Given the description of an element on the screen output the (x, y) to click on. 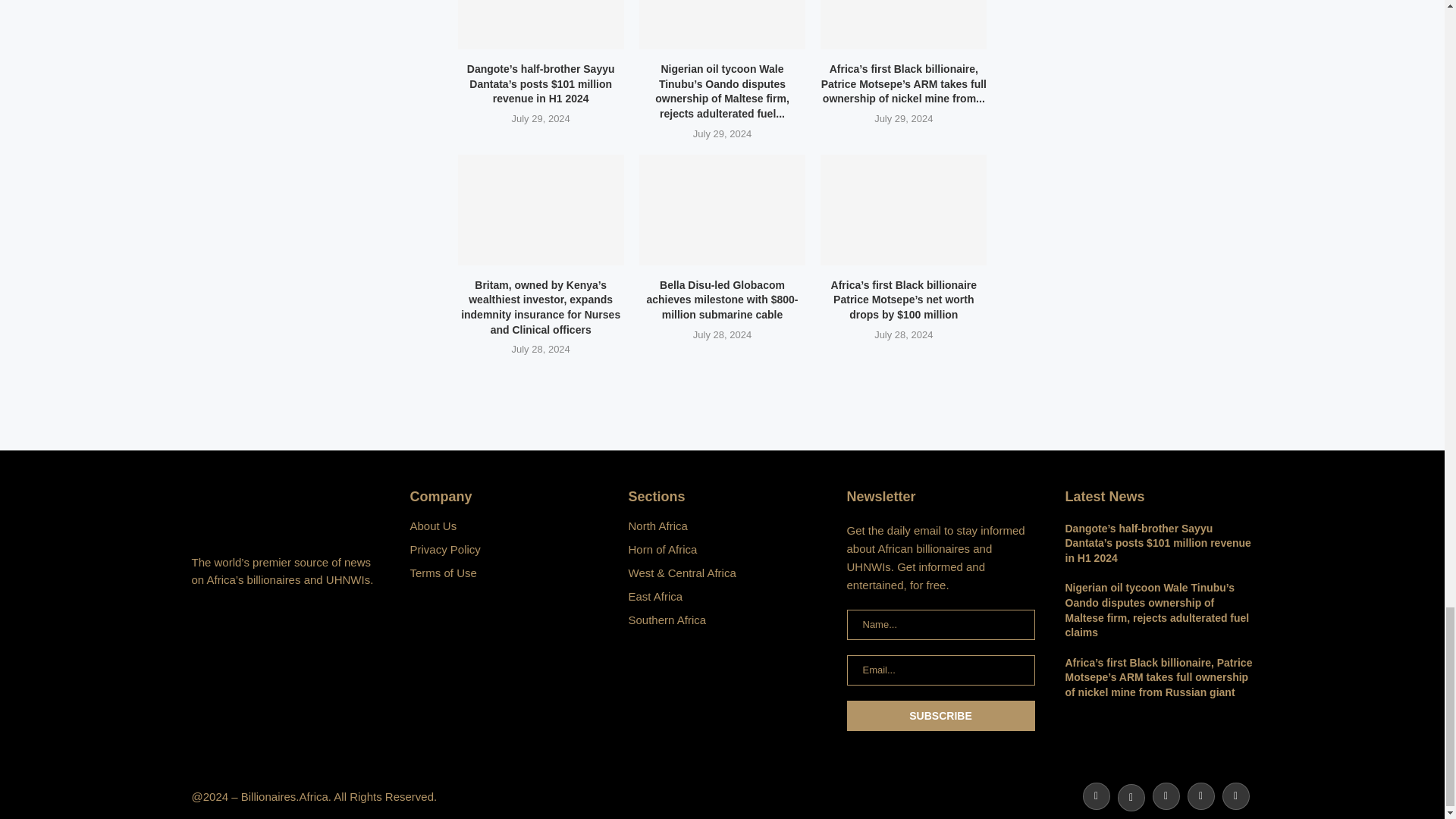
Subscribe (939, 716)
